Given the description of an element on the screen output the (x, y) to click on. 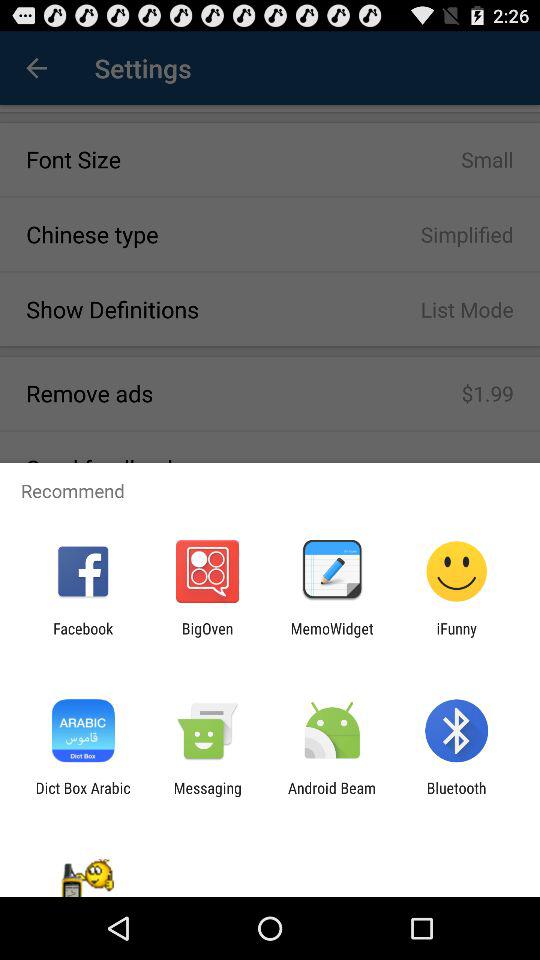
turn off the icon next to the dict box arabic item (207, 796)
